Given the description of an element on the screen output the (x, y) to click on. 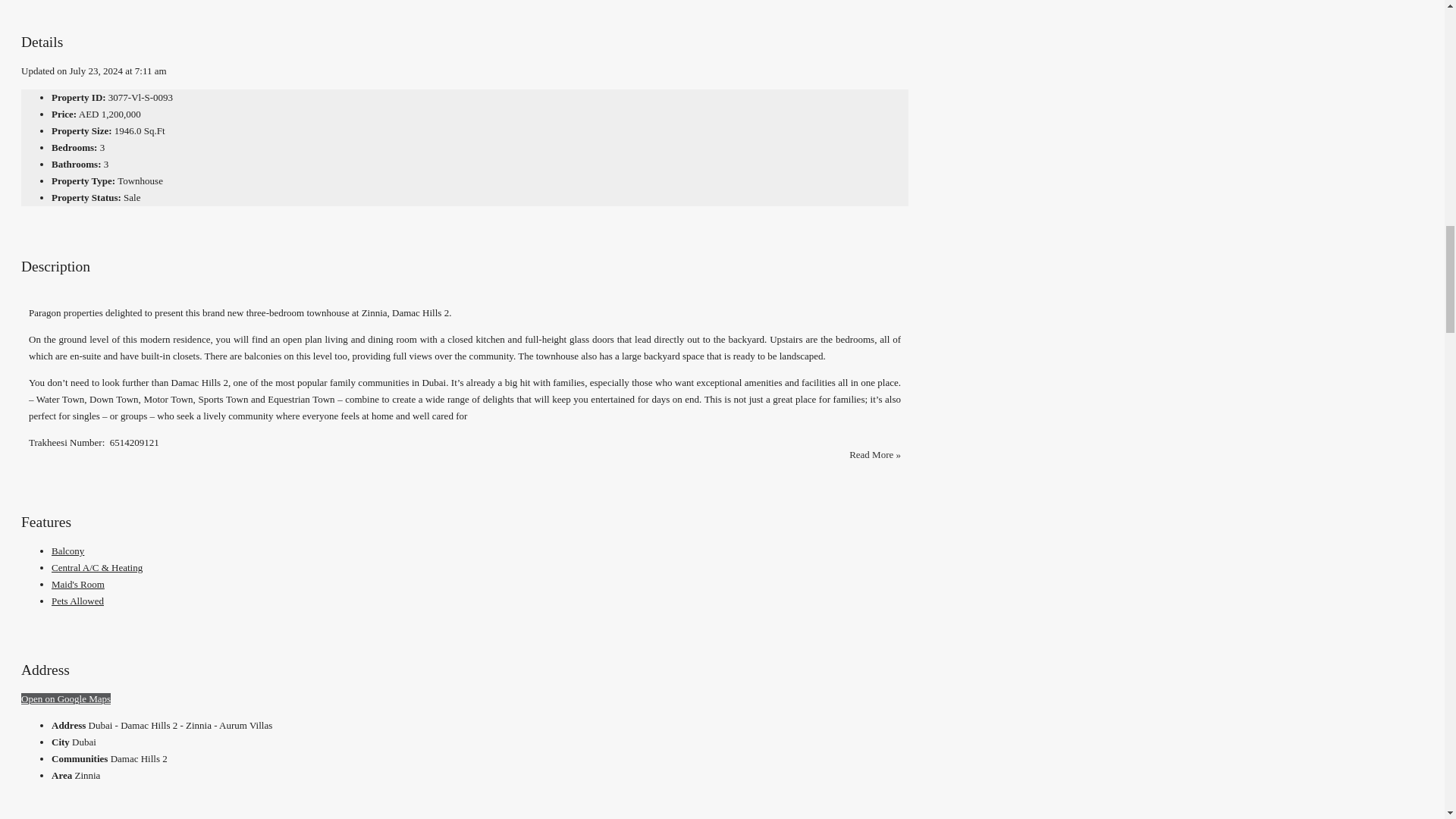
on (37, 302)
